Given the description of an element on the screen output the (x, y) to click on. 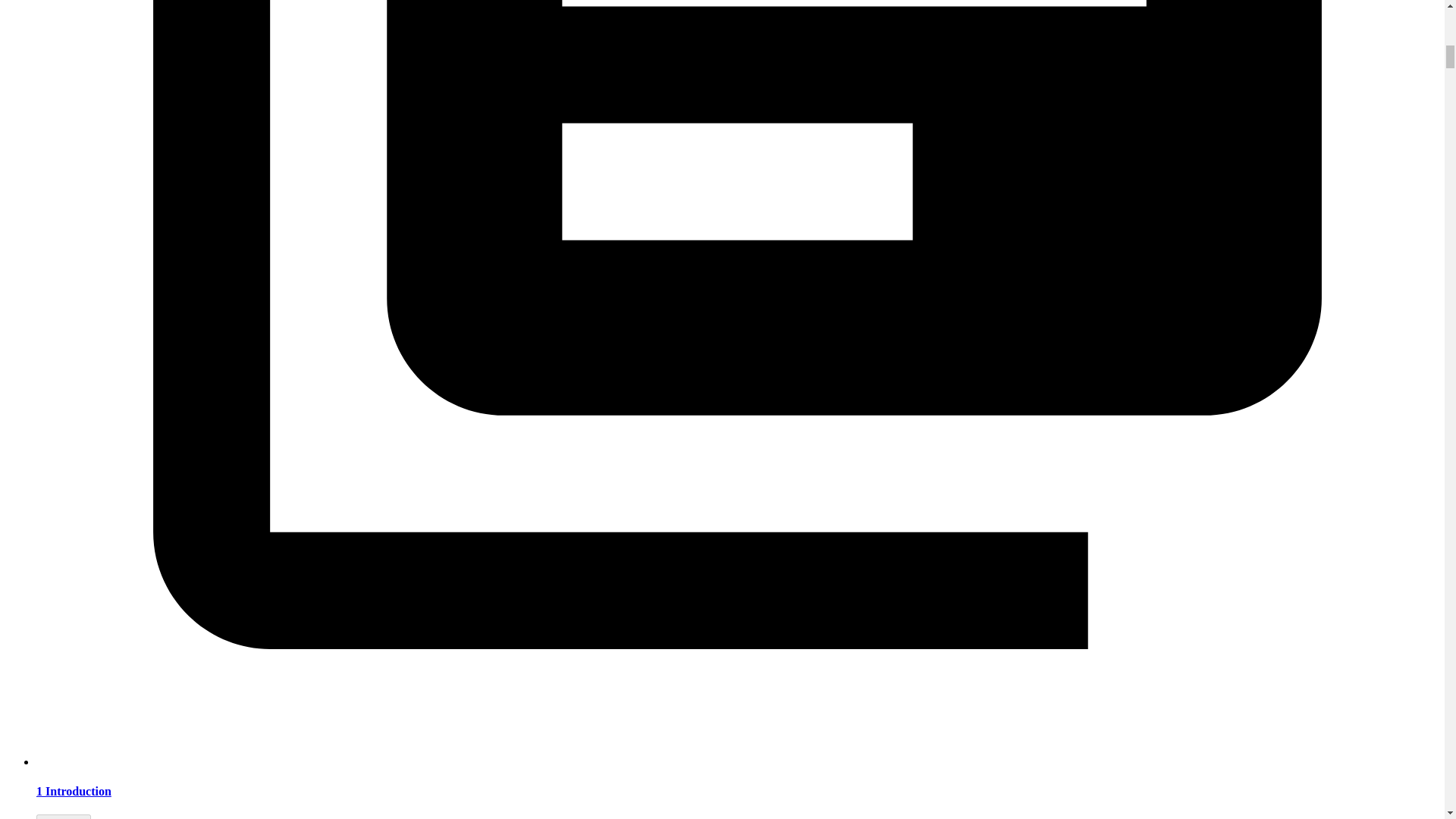
5 Pages (63, 816)
